Given the description of an element on the screen output the (x, y) to click on. 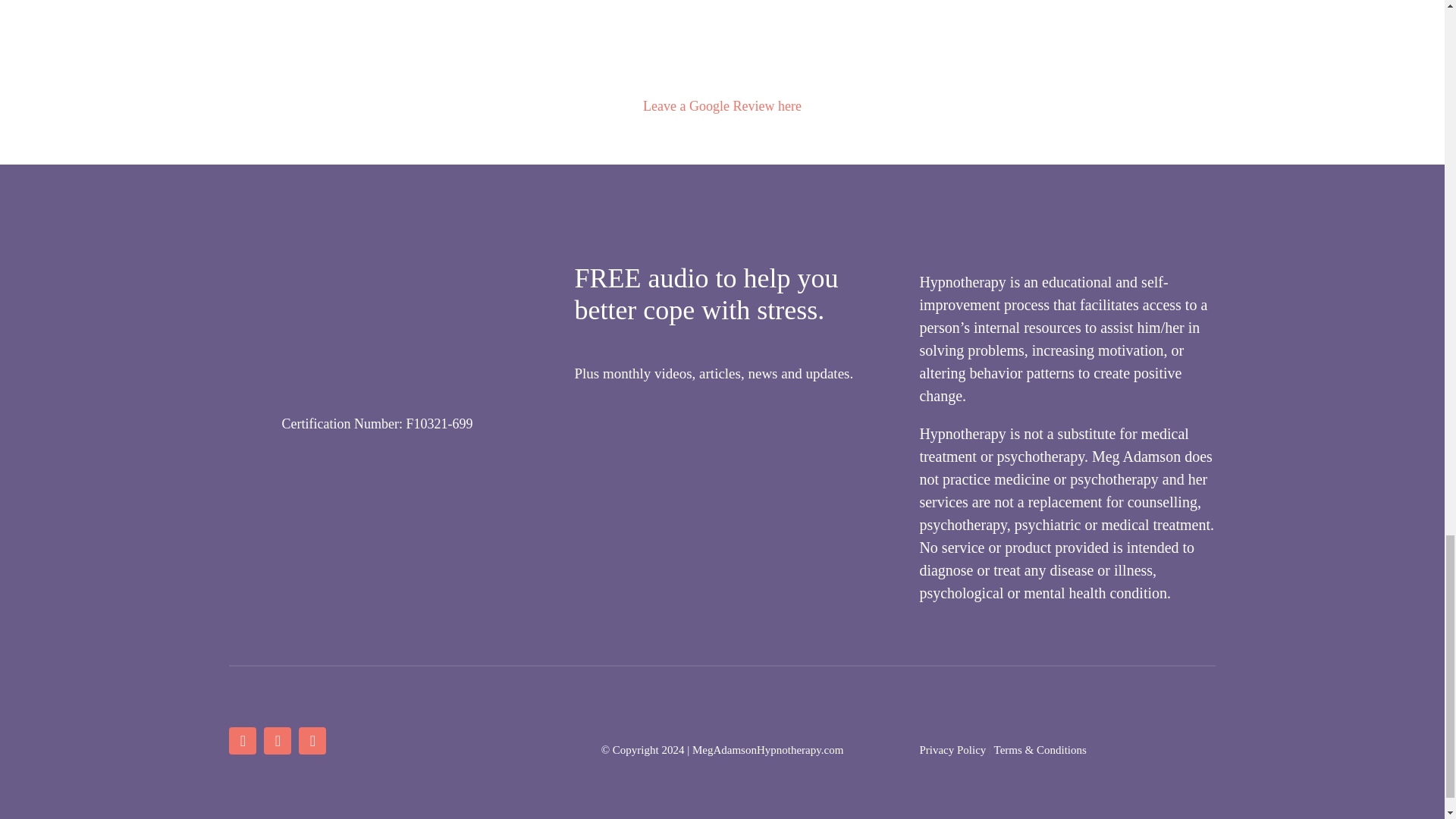
Instagram (277, 740)
LinkedIn (312, 740)
Facebook (242, 740)
